Given the description of an element on the screen output the (x, y) to click on. 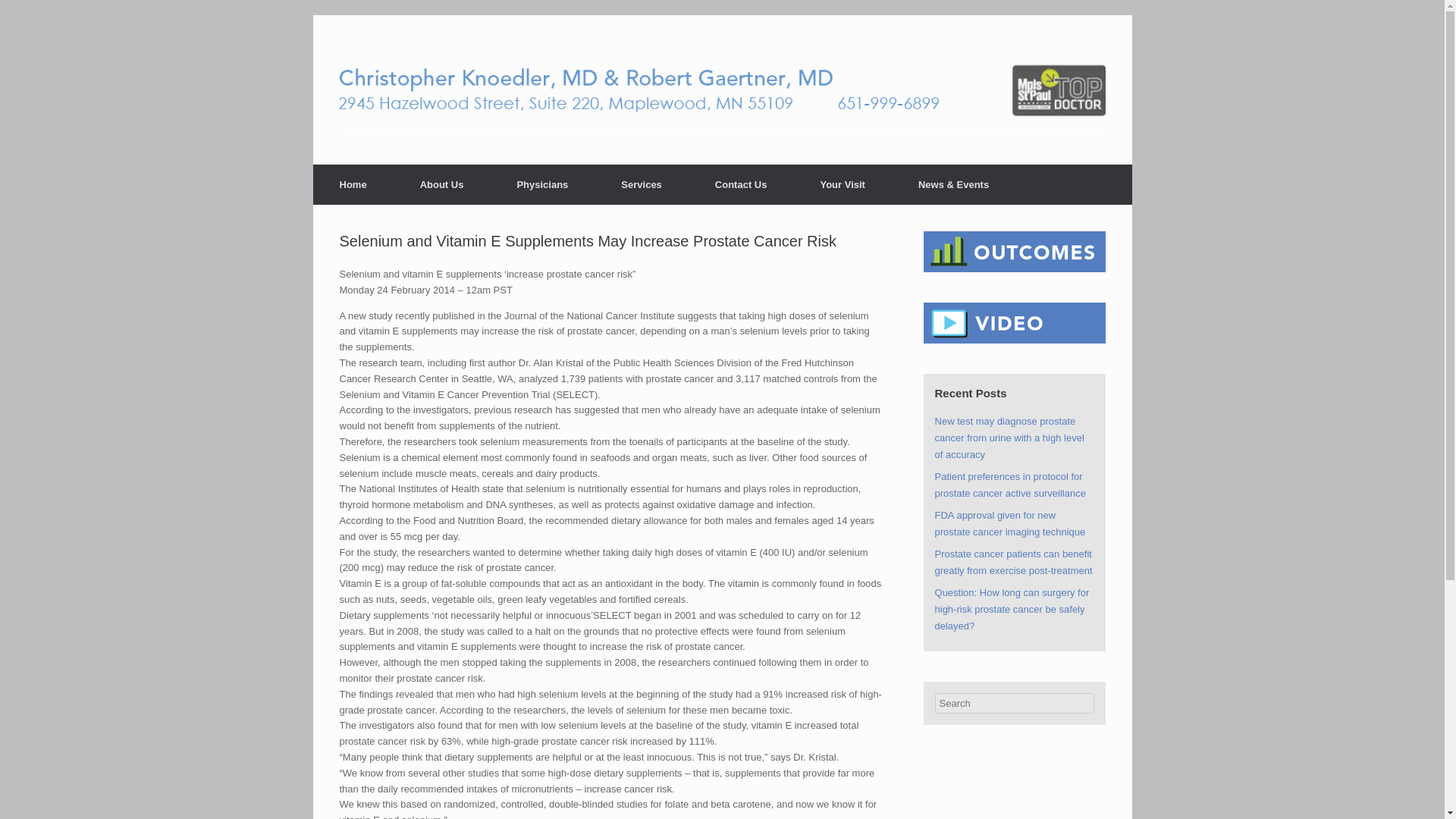
Your Visit (842, 184)
Contact Us (740, 184)
About Us (441, 184)
Services (641, 184)
Physicians (541, 184)
FDA approval given for new prostate cancer imaging technique (1010, 523)
